Given the description of an element on the screen output the (x, y) to click on. 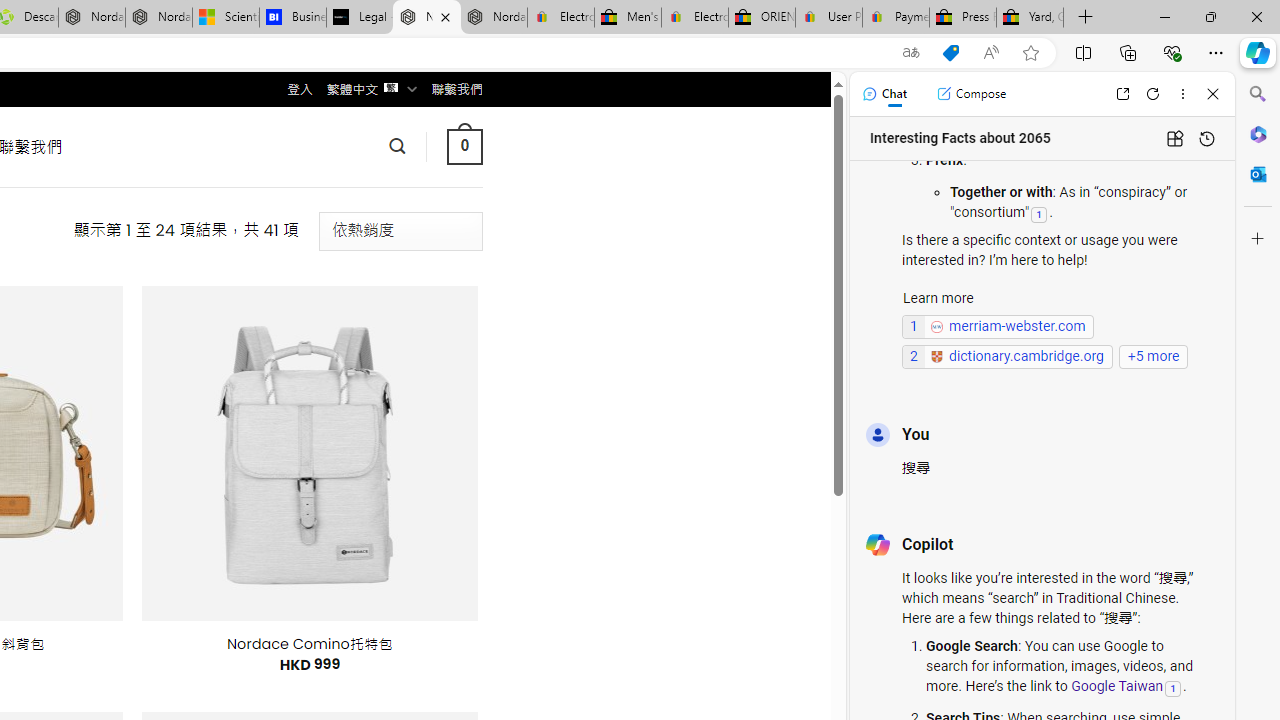
Press Room - eBay Inc. (962, 17)
Chat (884, 93)
This site has coupons! Shopping in Microsoft Edge (950, 53)
Compose (971, 93)
